Given the description of an element on the screen output the (x, y) to click on. 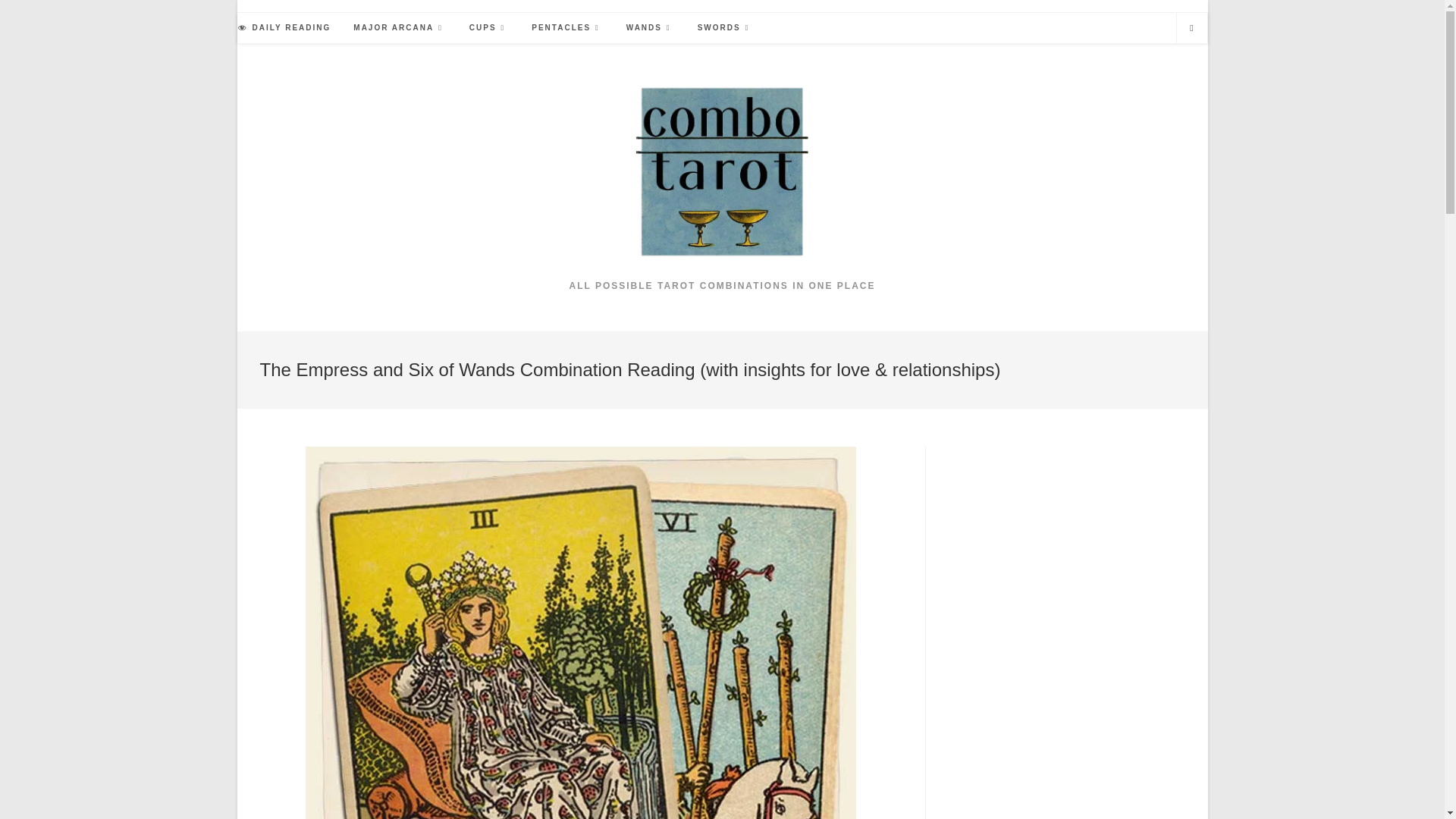
MAJOR ARCANA (400, 28)
DAILY READING (283, 28)
CUPS (488, 28)
